Given the description of an element on the screen output the (x, y) to click on. 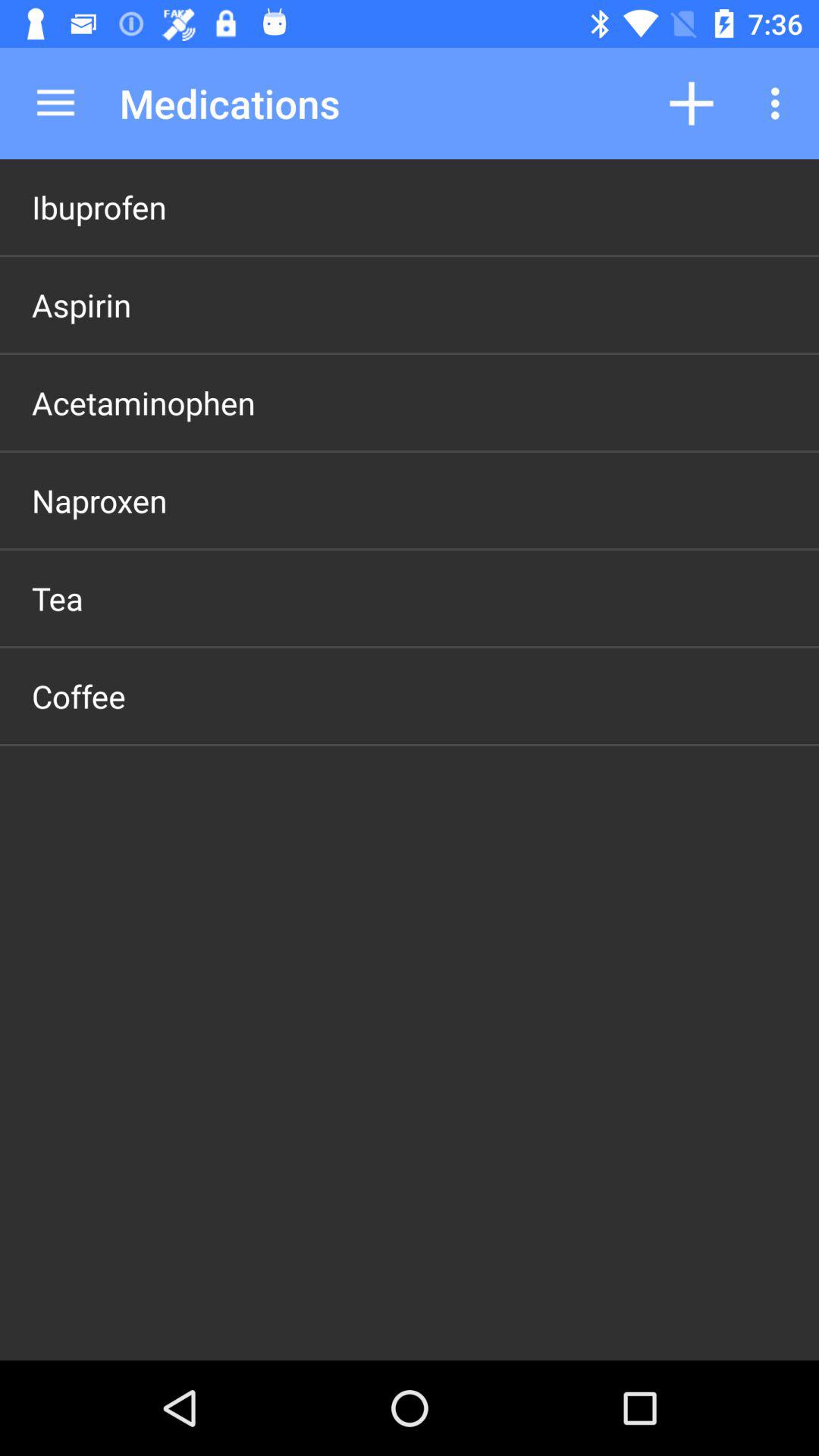
jump to tea (57, 598)
